Given the description of an element on the screen output the (x, y) to click on. 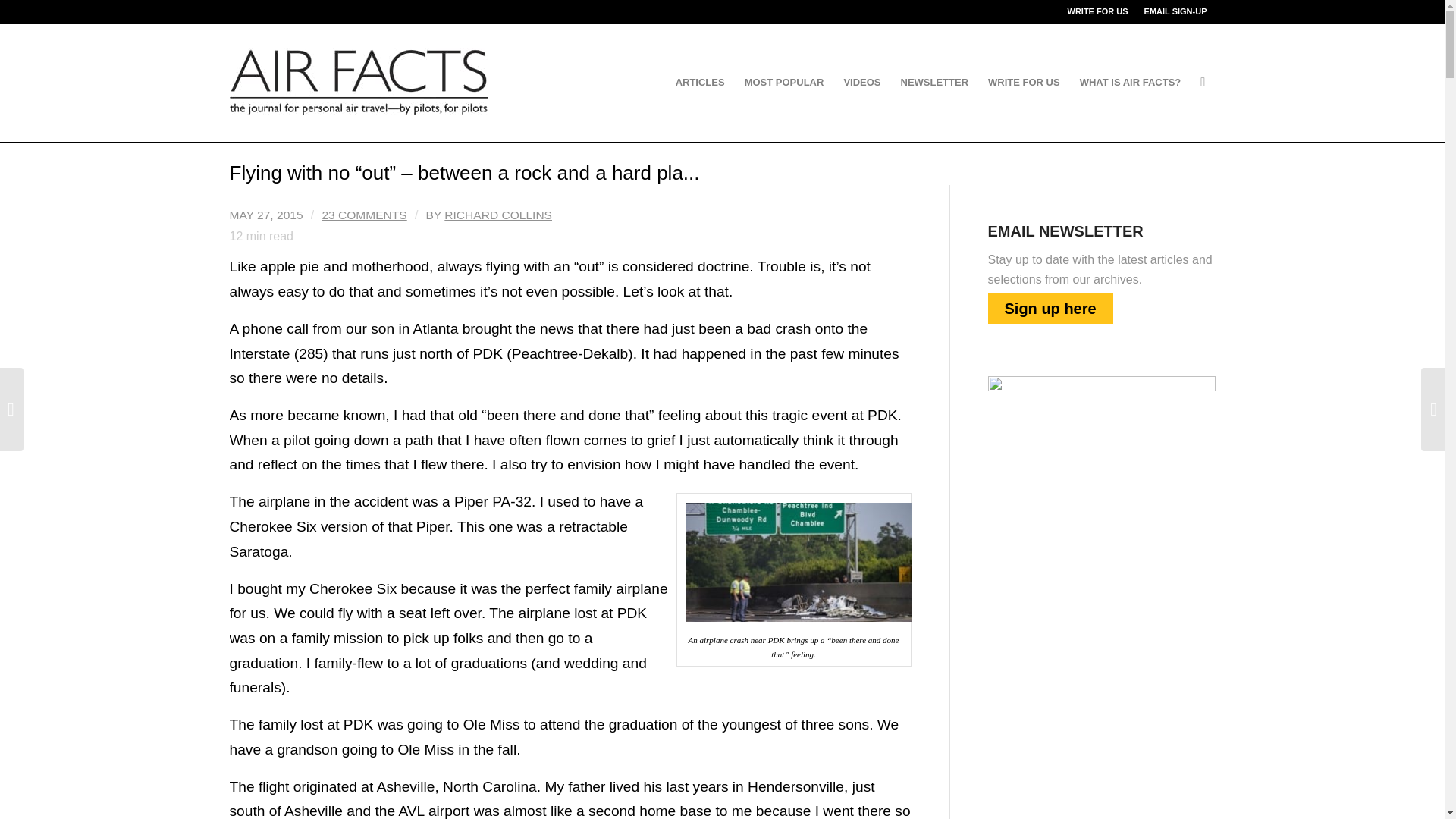
EMAIL SIGN-UP (1175, 11)
WRITE FOR US (1097, 11)
WHAT IS AIR FACTS? (1130, 82)
